Given the description of an element on the screen output the (x, y) to click on. 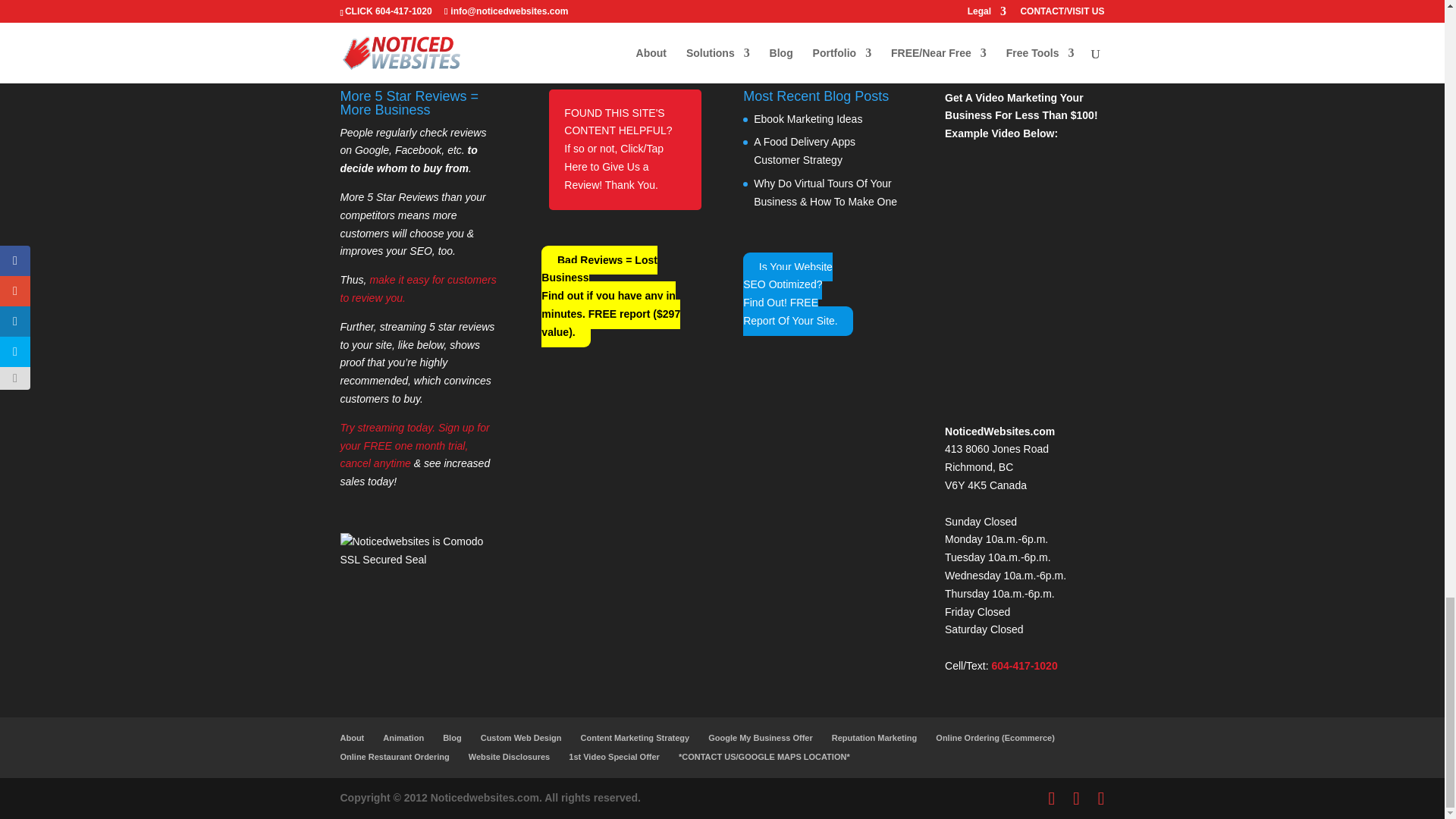
YouTube video player (1023, 279)
